Given the description of an element on the screen output the (x, y) to click on. 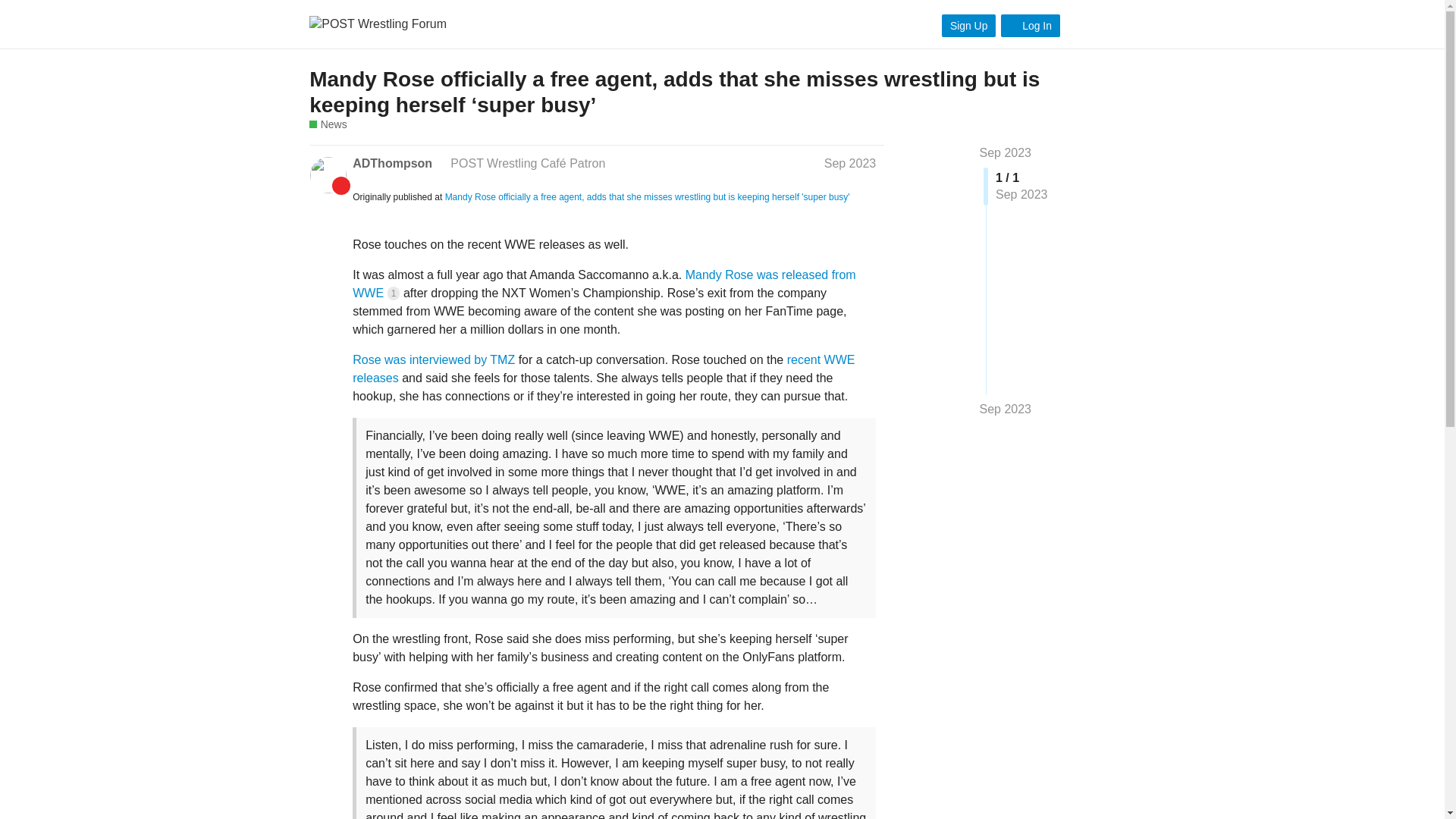
Patrons (340, 185)
This user is a moderator (439, 162)
Sign Up (968, 25)
Jump to the last post (1005, 408)
News (327, 124)
Sep 2023 (1005, 152)
Search (1082, 23)
Post date (850, 162)
Rose was interviewed by TMZ (433, 359)
